Given the description of an element on the screen output the (x, y) to click on. 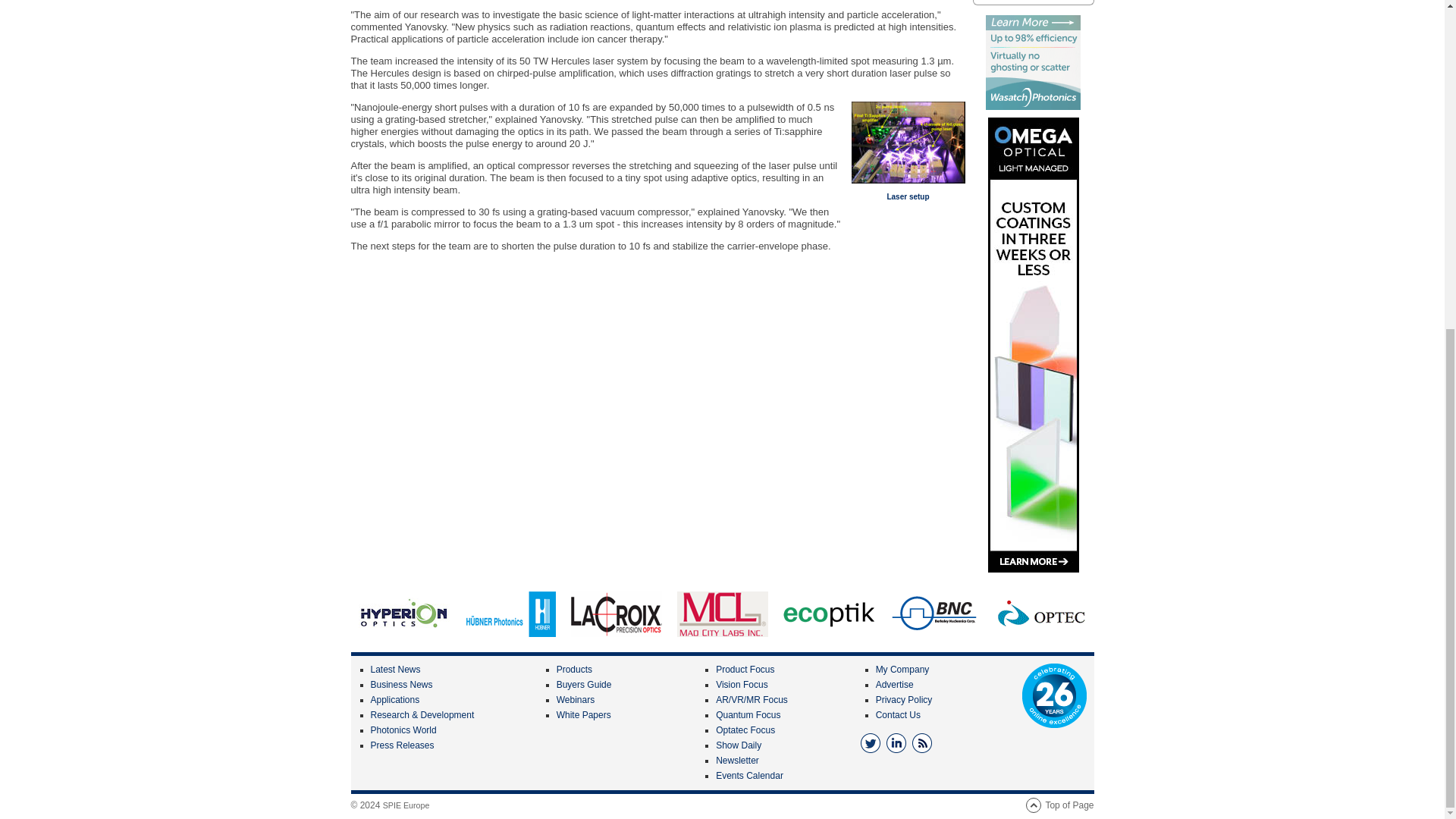
RSS Feeds (921, 742)
Laser setup (907, 196)
LinkedIn (895, 742)
Twitter (870, 742)
Laser setup (906, 142)
